Given the description of an element on the screen output the (x, y) to click on. 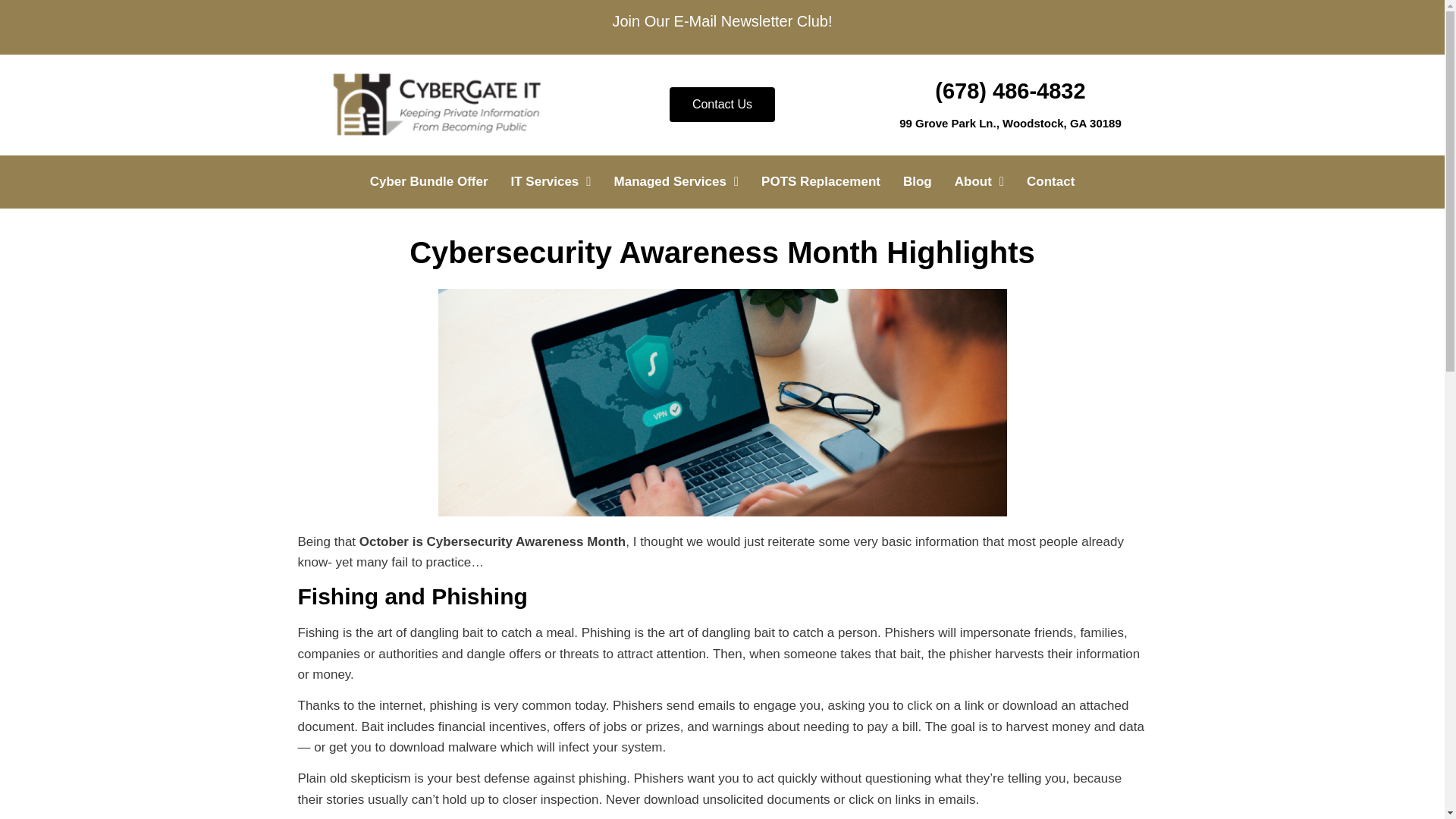
Join Our E-Mail Newsletter Club! (721, 21)
POTS Replacement (820, 181)
Cyber Bundle Offer (428, 181)
Blog (917, 181)
99 Grove Park Ln., Woodstock, GA 30189 (1010, 123)
About (978, 181)
Contact Us (721, 104)
IT Services (550, 181)
Contact (1050, 181)
Managed Services (676, 181)
